Given the description of an element on the screen output the (x, y) to click on. 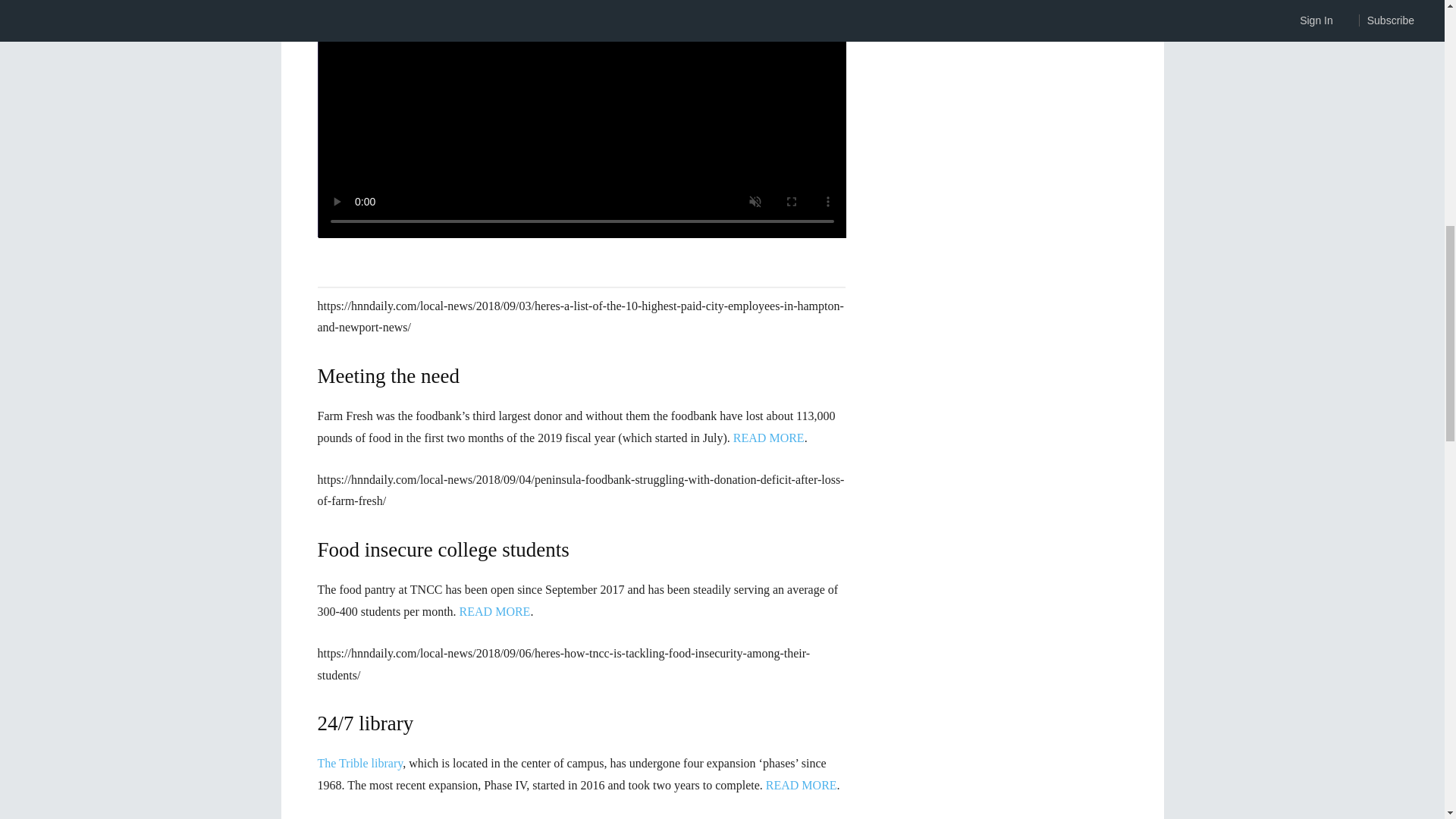
yb-3i3fo (581, 119)
